Given the description of an element on the screen output the (x, y) to click on. 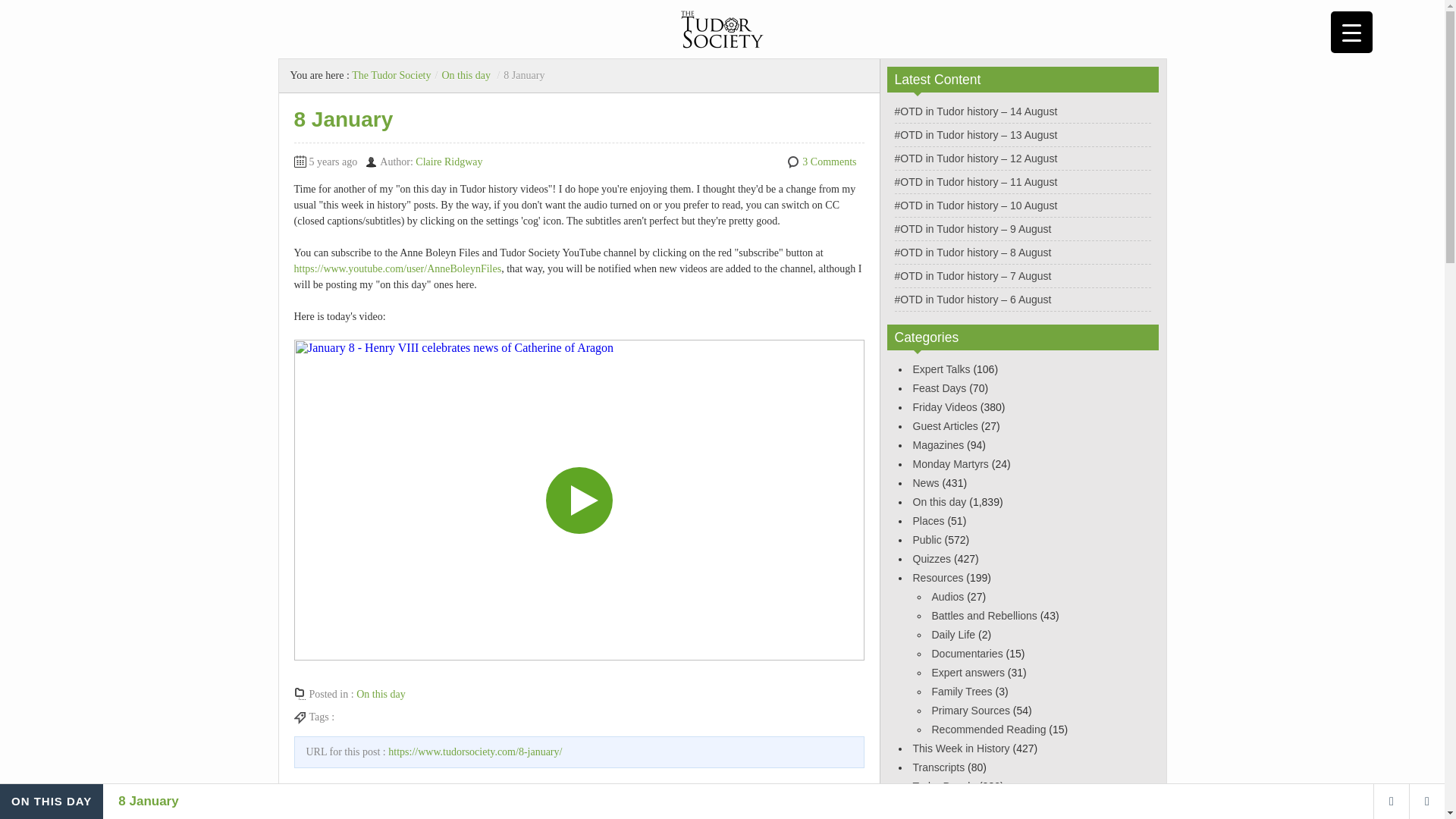
Feast Days (939, 387)
Magazines (937, 444)
Expert Talks (941, 369)
Friday Videos (944, 407)
The Tudor Society (391, 75)
On this day (465, 75)
3 Comments (829, 161)
On this day (381, 694)
Go To Comment (817, 811)
